Given the description of an element on the screen output the (x, y) to click on. 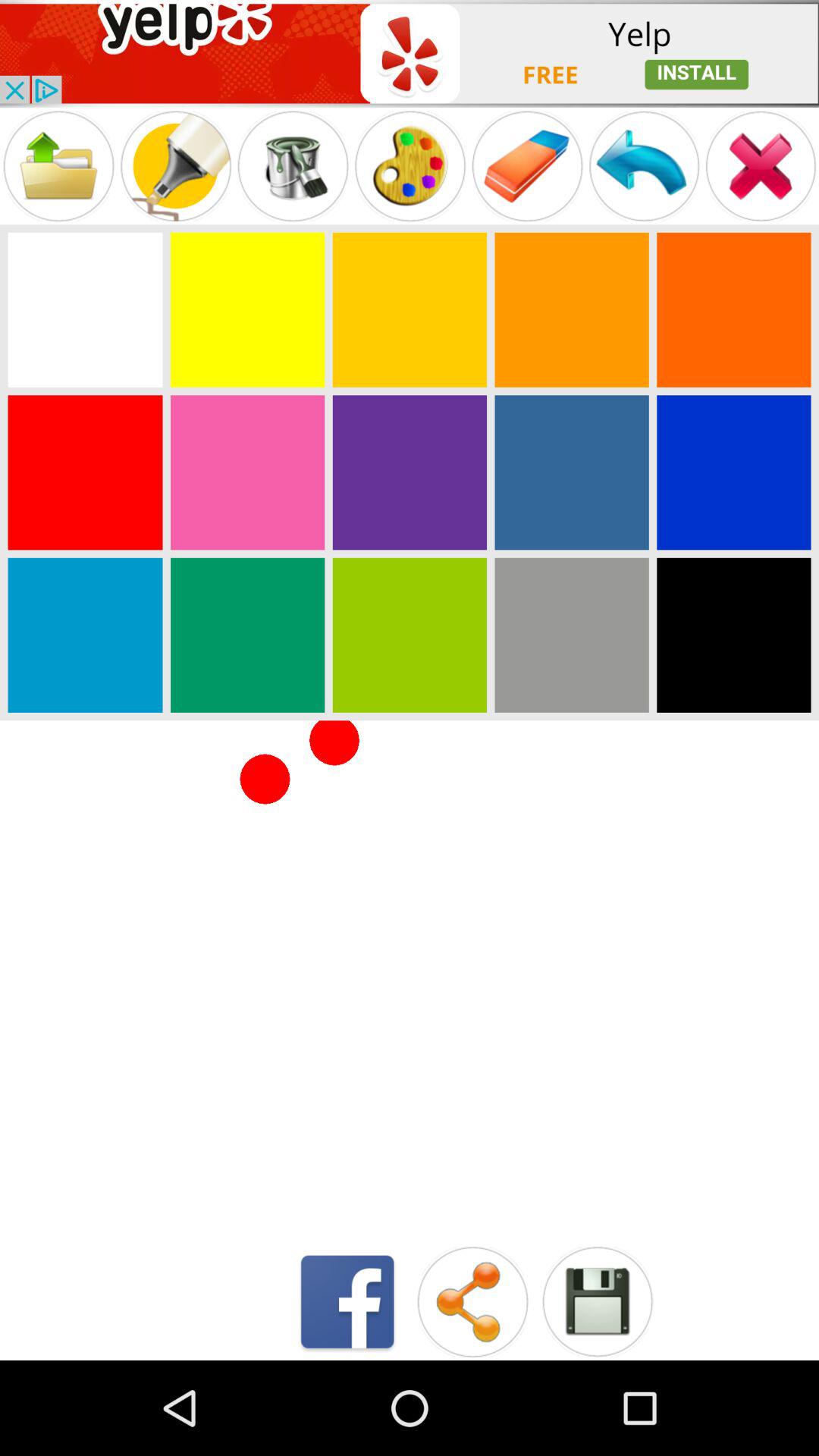
got to previous folder (58, 165)
